Given the description of an element on the screen output the (x, y) to click on. 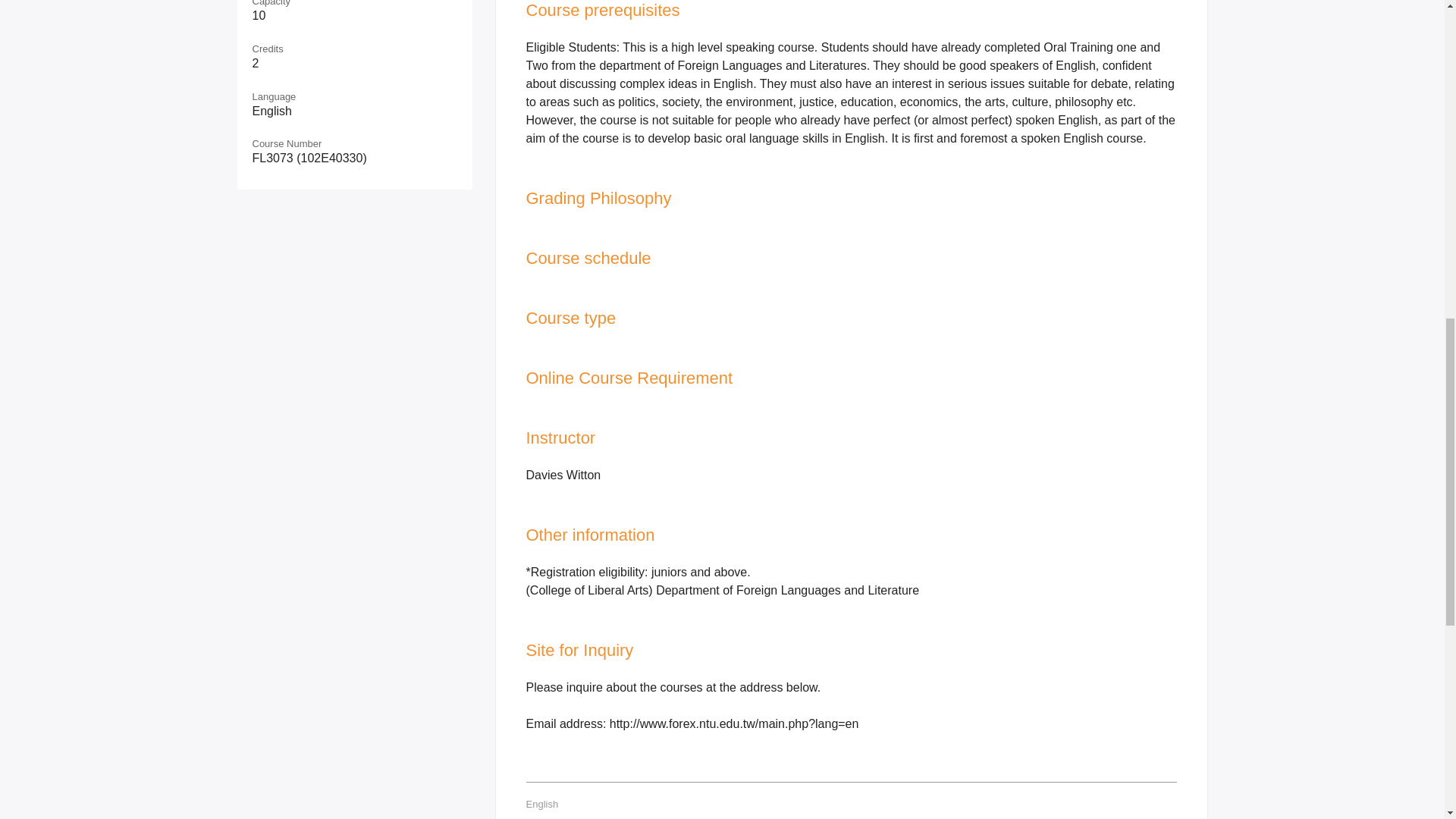
English (542, 803)
